Given the description of an element on the screen output the (x, y) to click on. 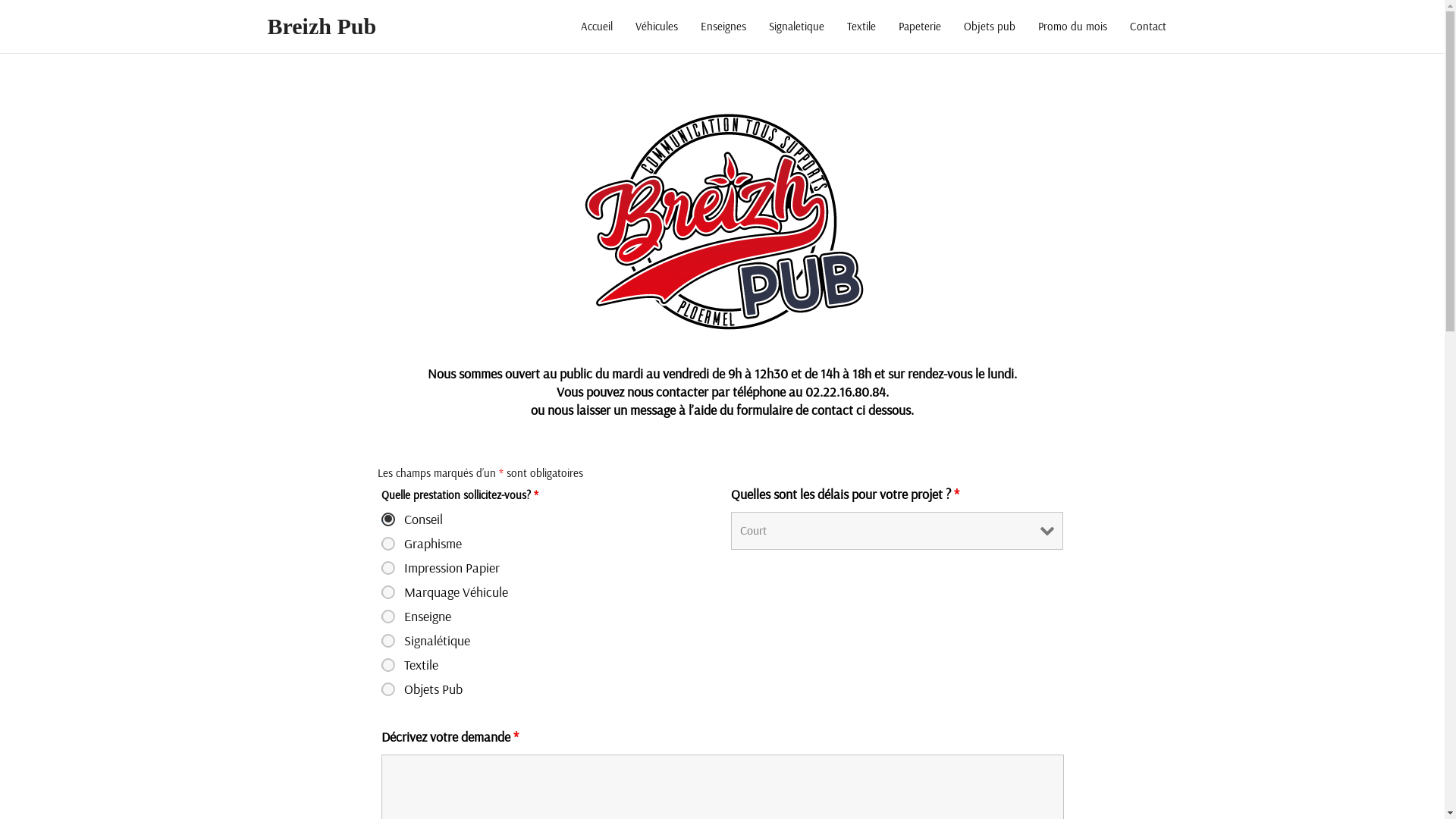
Breizh Pub Element type: text (321, 25)
Objets pub Element type: text (989, 26)
Textile Element type: text (861, 26)
Papeterie Element type: text (919, 26)
Promo du mois Element type: text (1072, 26)
Enseignes Element type: text (722, 26)
Signaletique Element type: text (795, 26)
Accueil Element type: text (595, 26)
Contact Element type: text (1146, 26)
